Given the description of an element on the screen output the (x, y) to click on. 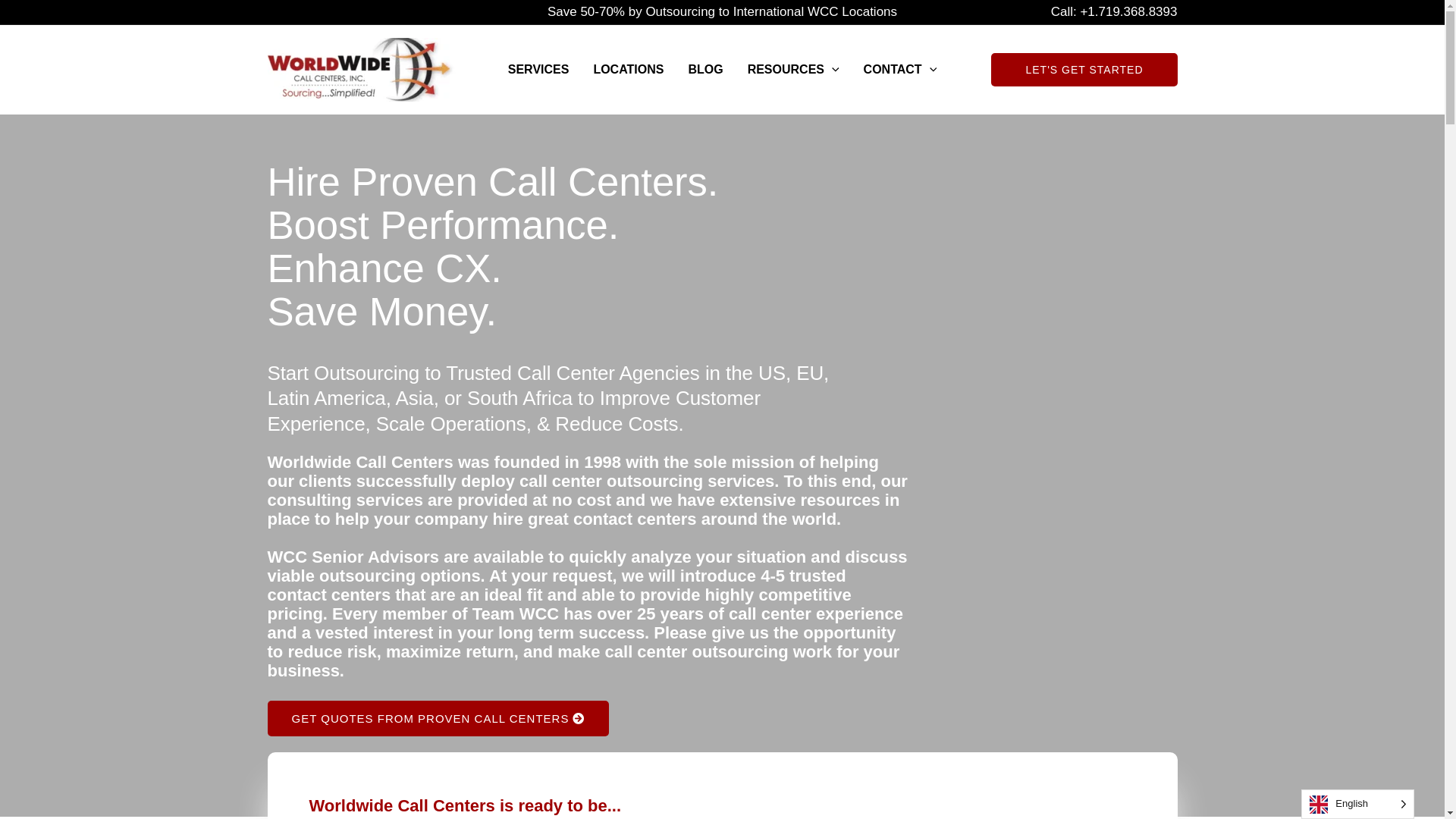
Save 50-70% by Outsourcing to International WCC Locations Element type: text (722, 11)
SERVICES Element type: text (538, 69)
BLOG Element type: text (704, 69)
LET'S GET STARTED Element type: text (1083, 69)
RESOURCES Element type: text (793, 69)
LOCATIONS Element type: text (627, 69)
GET QUOTES FROM PROVEN CALL CENTERS Element type: text (437, 718)
Call: +1.719.368.8393 Element type: text (1114, 11)
CONTACT Element type: text (900, 69)
